Given the description of an element on the screen output the (x, y) to click on. 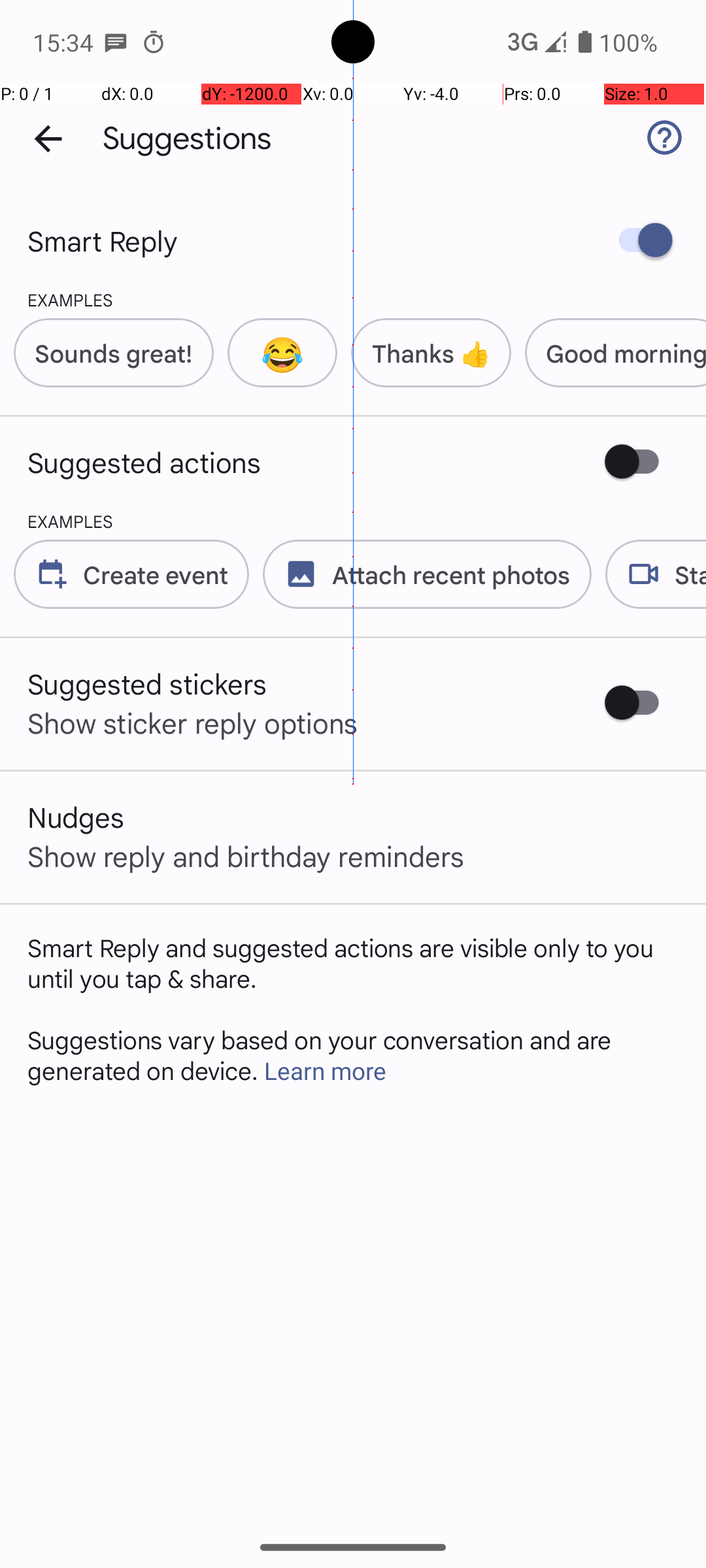
Smart Reply and suggested actions are visible only to you until you tap & share. 

Suggestions vary based on your conversation and are generated on device. Learn more Element type: android.widget.TextView (353, 1008)
Smart Reply Element type: android.widget.TextView (102, 240)
EXAMPLES Element type: android.widget.TextView (56, 299)
Suggested actions Element type: android.widget.TextView (143, 461)
Suggested stickers Element type: android.widget.TextView (147, 682)
Show sticker reply options Element type: android.widget.TextView (192, 722)
Nudges Element type: android.widget.TextView (75, 816)
Show reply and birthday reminders Element type: android.widget.TextView (245, 855)
Suggested reply: Sounds great! Element type: android.widget.FrameLayout (106, 352)
Suggested reply: 😂 Element type: android.widget.FrameLayout (275, 352)
Suggested reply: Thanks 👍 Element type: android.widget.FrameLayout (424, 352)
Suggested reply: Good morning Element type: android.widget.FrameLayout (608, 352)
Suggested calendar action: Create event Element type: android.widget.FrameLayout (124, 574)
Attach recent photos Element type: android.widget.FrameLayout (420, 574)
Start video call Element type: android.widget.FrameLayout (648, 574)
Sounds great! Element type: android.widget.TextView (113, 352)
😂 Element type: android.widget.TextView (281, 352)
Thanks 👍 Element type: android.widget.TextView (430, 352)
Good morning Element type: android.widget.TextView (625, 352)
Action icon Element type: android.widget.ImageView (51, 573)
Create event Element type: android.widget.TextView (155, 573)
